Given the description of an element on the screen output the (x, y) to click on. 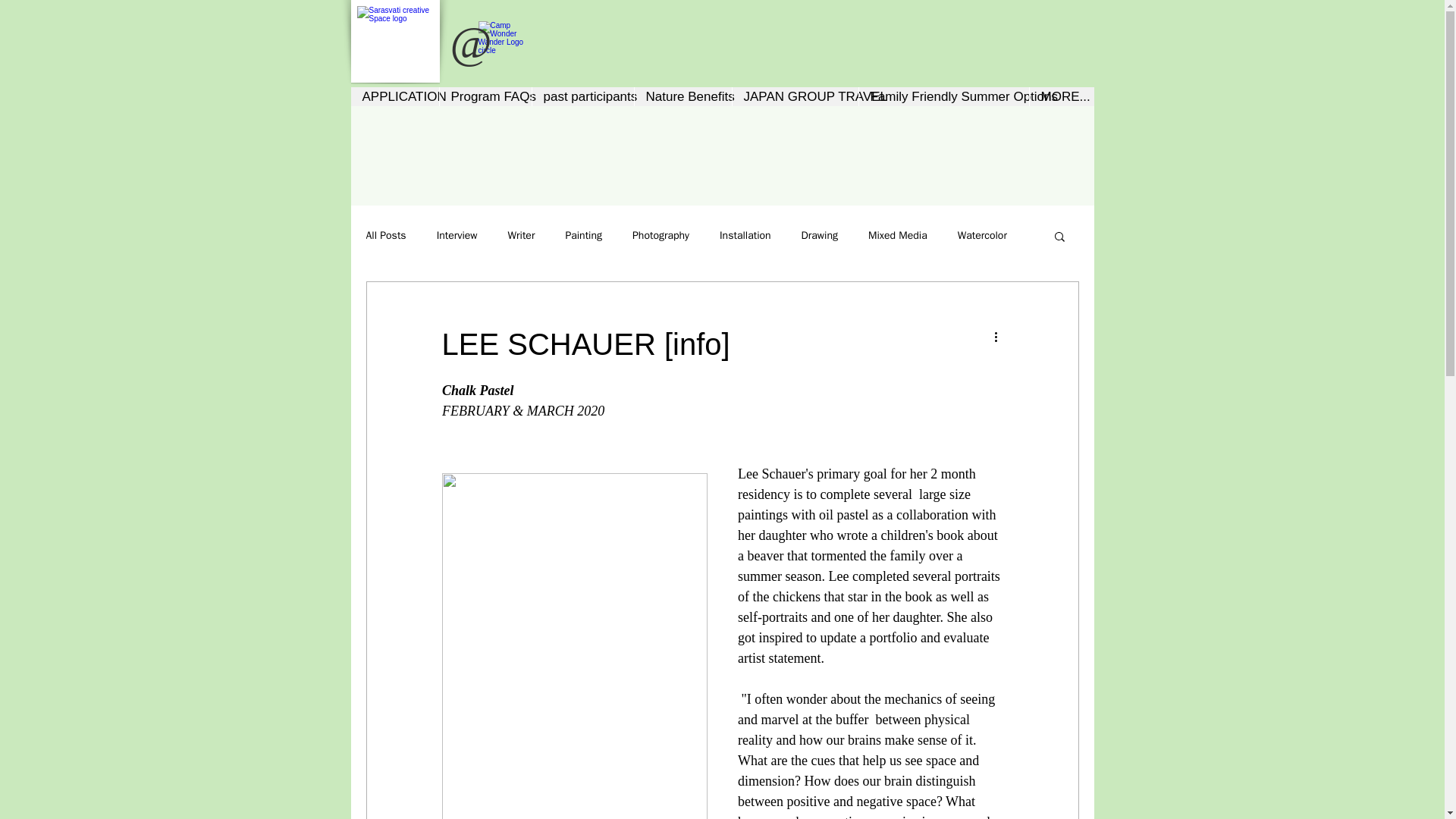
Writer (521, 235)
past participants (582, 96)
Drawing (820, 235)
All Posts (385, 235)
Painting (583, 235)
Nature Benefits (682, 96)
Program FAQs (484, 96)
Mixed Media (897, 235)
Family Friendly Summer Options (944, 96)
Installation (745, 235)
Photography (659, 235)
Watercolor (982, 235)
APPLICATION (394, 96)
Interview (456, 235)
